Given the description of an element on the screen output the (x, y) to click on. 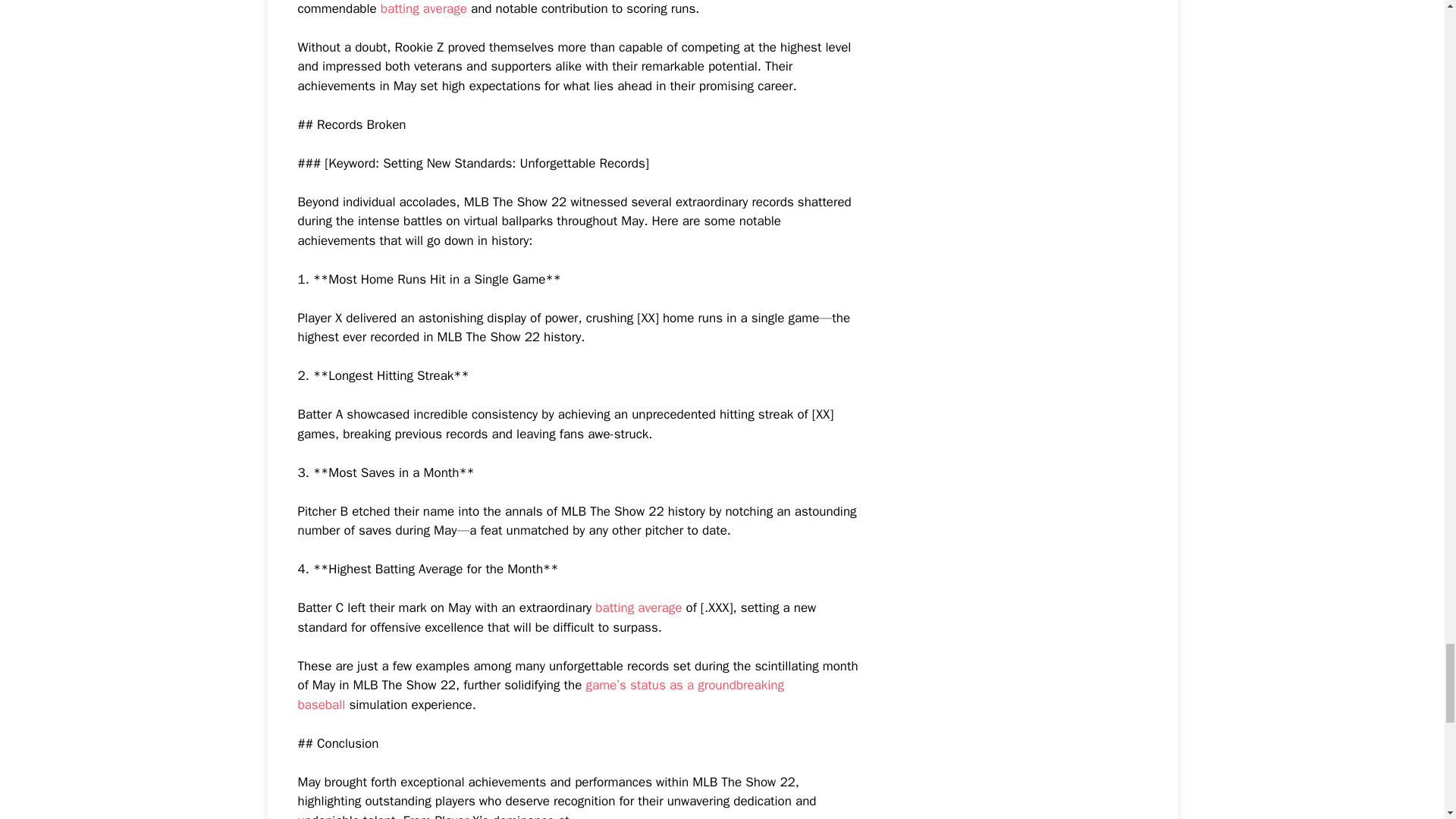
batting average (638, 607)
batting average (423, 8)
